Given the description of an element on the screen output the (x, y) to click on. 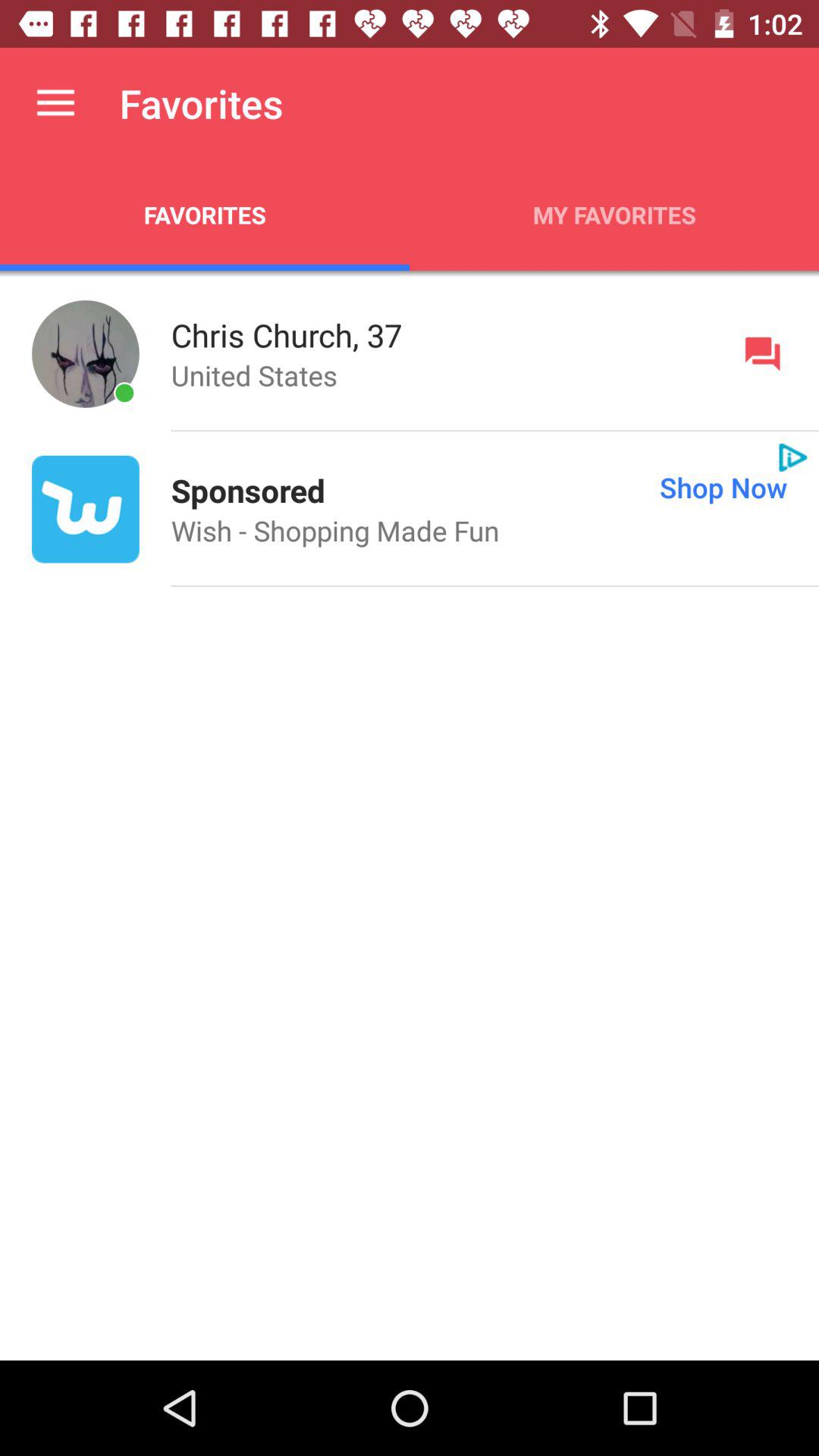
press icon next to sponsored icon (572, 487)
